Given the description of an element on the screen output the (x, y) to click on. 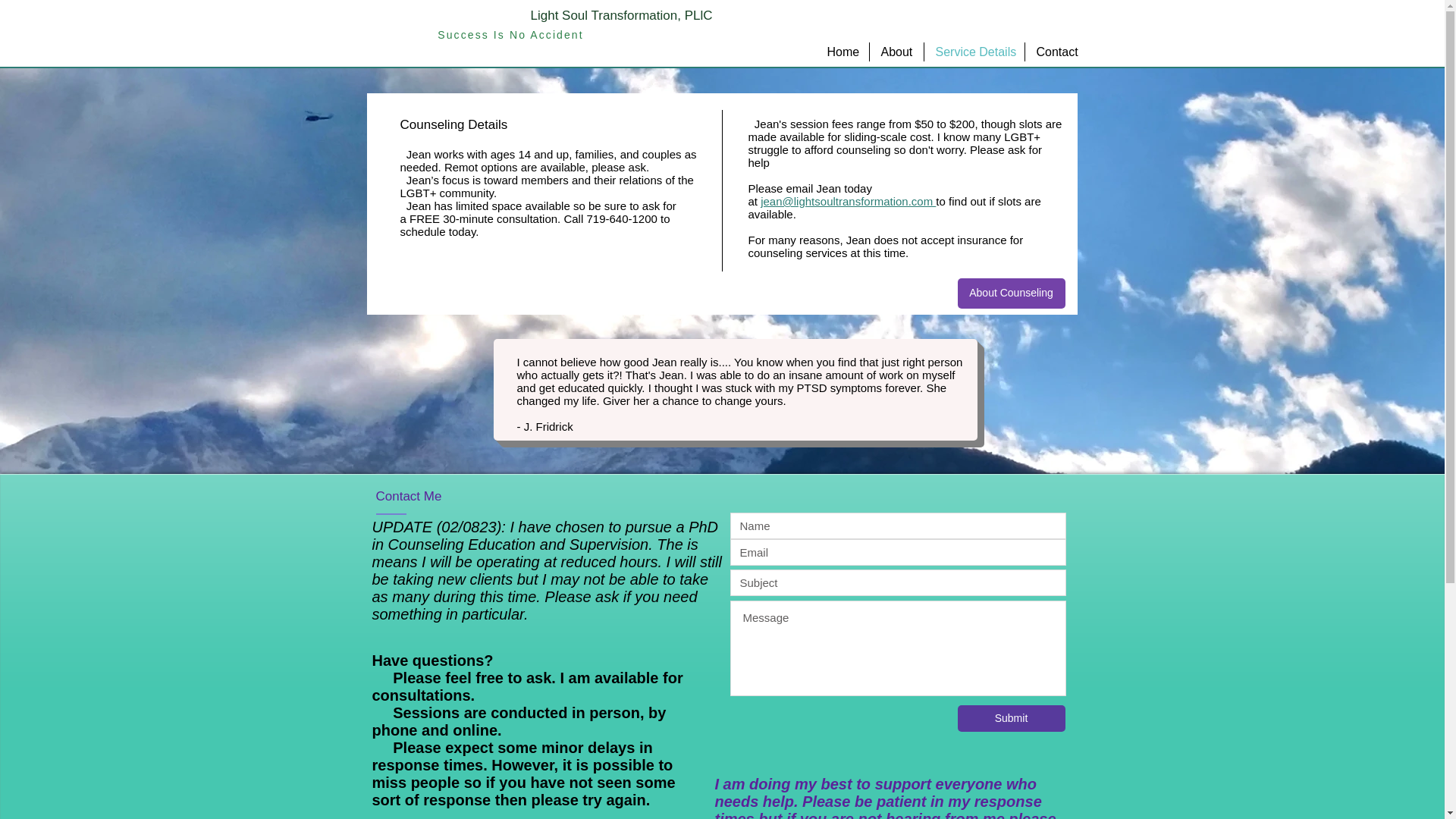
About Counseling (1010, 293)
Contact (1056, 51)
Home (842, 51)
Service Details (973, 51)
About (896, 51)
Light Soul Transformation, PLlC (620, 15)
Success Is No Accident (510, 34)
Submit (1010, 718)
